Given the description of an element on the screen output the (x, y) to click on. 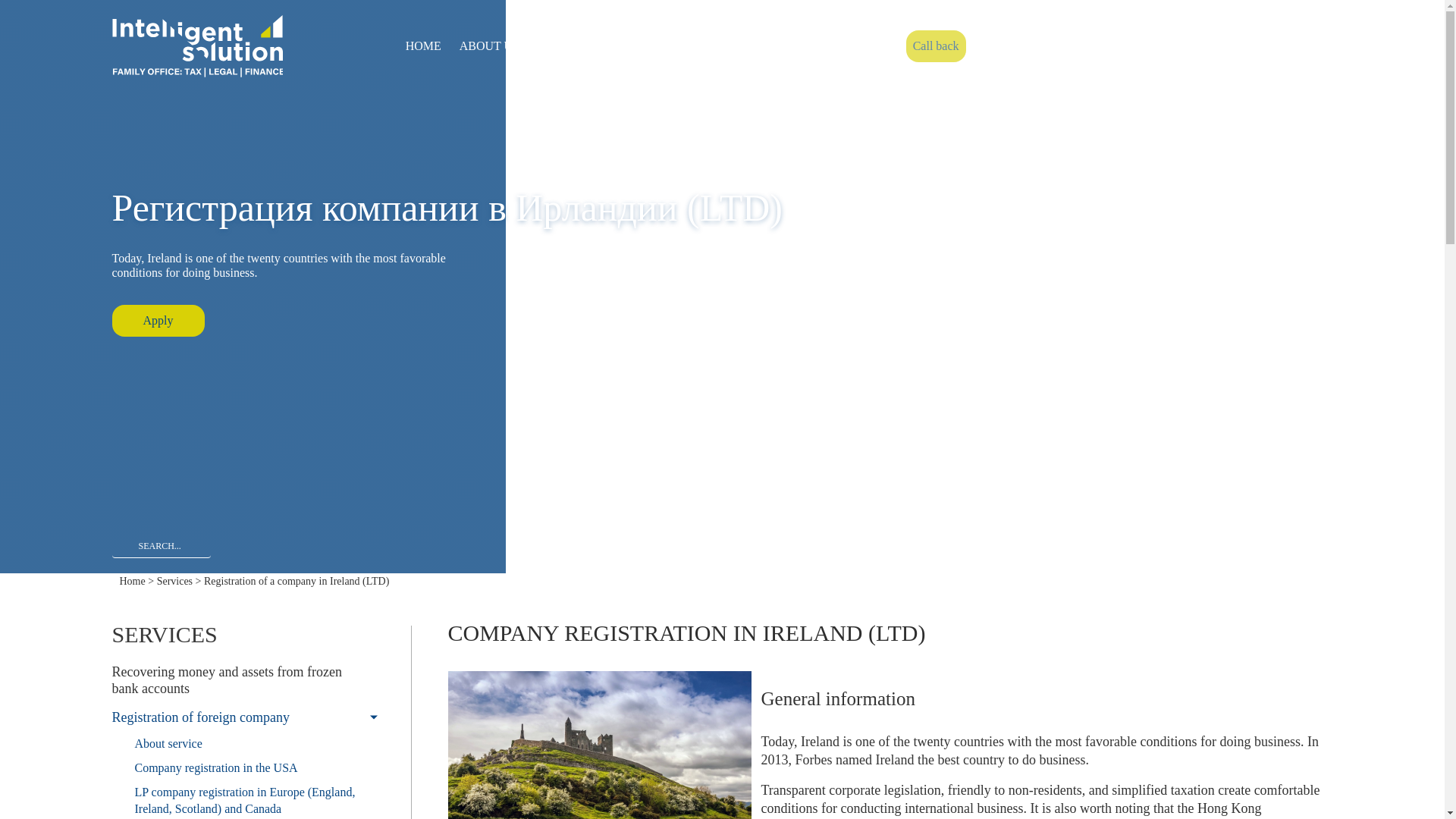
CONTACTS (751, 46)
Company registration in the USA (244, 767)
HOME (422, 46)
About service (244, 743)
ABOUT US (488, 46)
Registration of foreign company (244, 717)
RU (1283, 45)
Services (174, 581)
Home (132, 581)
NEWS (684, 46)
Apply (158, 320)
Call back (935, 46)
CASES (630, 46)
Recovering money and assets from frozen bank accounts (244, 679)
SERVICES (565, 46)
